Given the description of an element on the screen output the (x, y) to click on. 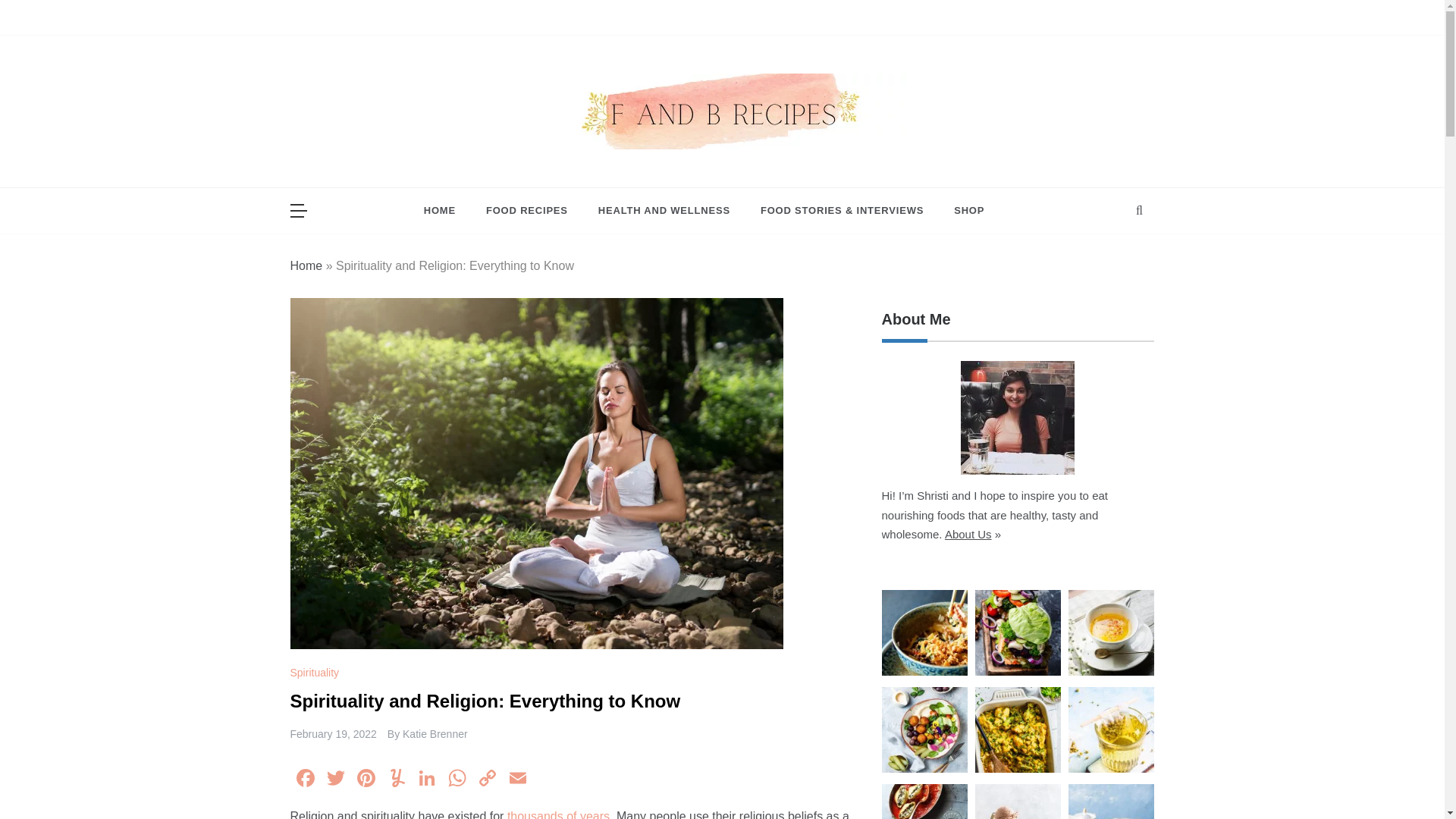
WhatsApp (456, 779)
Yummly (395, 779)
FOOD RECIPES (526, 210)
HEALTH AND WELLNESS (664, 210)
Facebook (304, 779)
Twitter (335, 779)
Spirituality (315, 672)
Pinterest (365, 779)
F and B Recipes (598, 172)
HOME (446, 210)
Home (305, 265)
SHOP (961, 210)
Copy Link (486, 779)
LinkedIn (425, 779)
Email (517, 779)
